Given the description of an element on the screen output the (x, y) to click on. 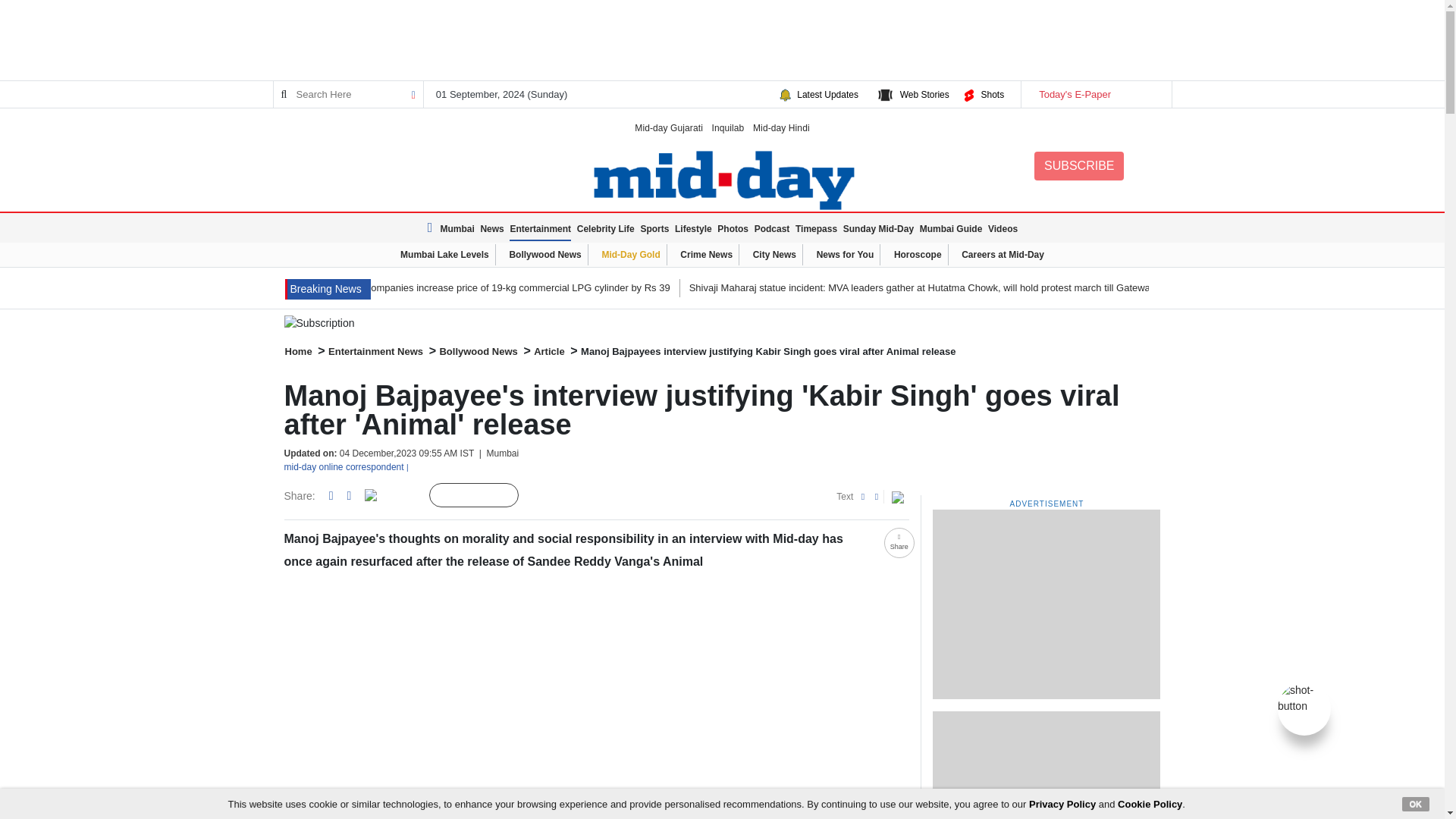
Midday Shot Videos (1304, 697)
SUBSCRIBE (1078, 165)
Latest Updates (827, 94)
Web Stories (924, 94)
Inquilab (728, 127)
Latest News (432, 227)
Shots (991, 94)
Mid-day Gujarati (668, 127)
Subscription (721, 323)
